Given the description of an element on the screen output the (x, y) to click on. 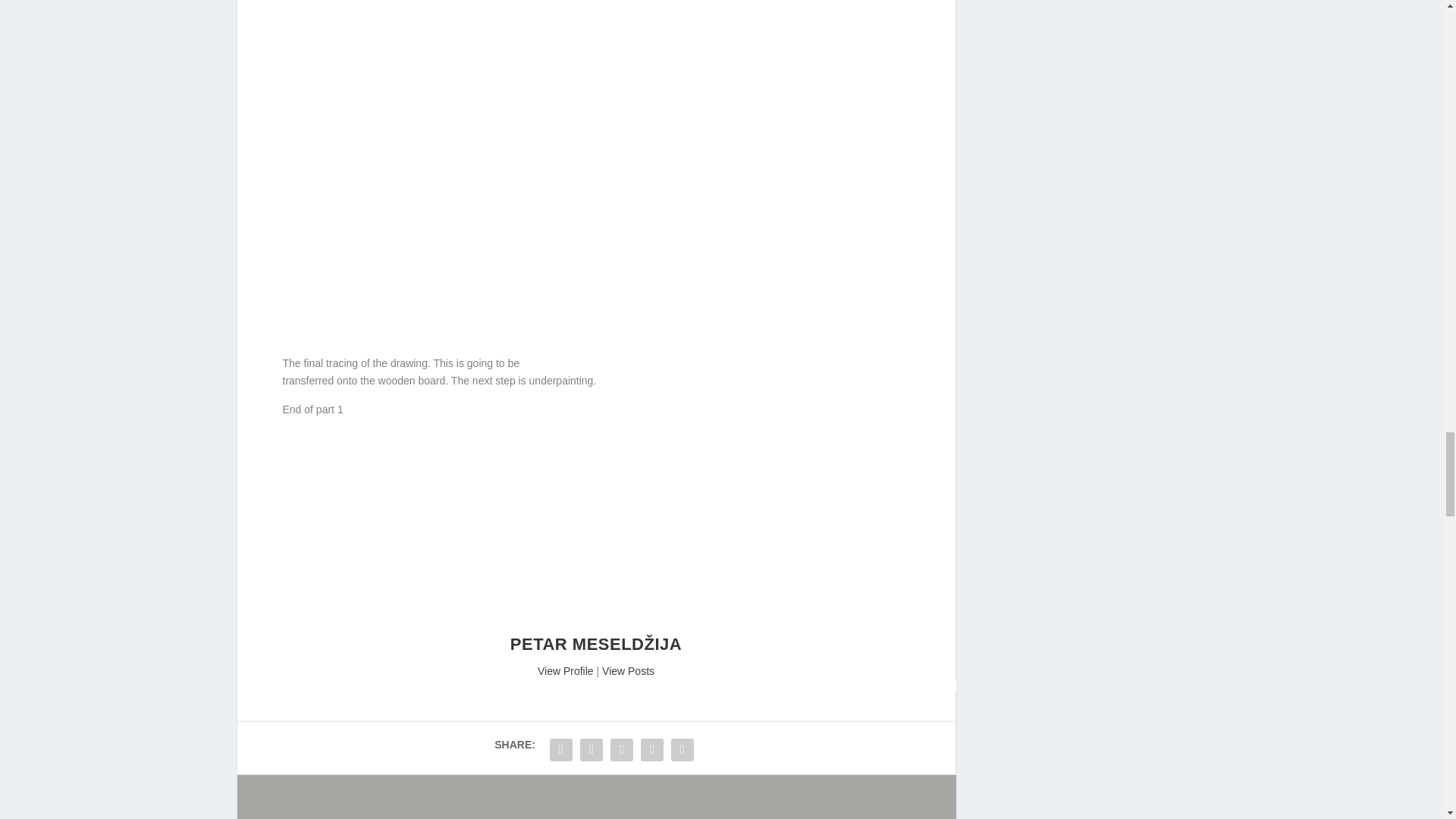
Share "Conan commission" via Tumblr (651, 749)
Share "Conan commission" via Twitter (591, 749)
About the author (596, 625)
About the author (565, 671)
Share "Conan commission" via Pinterest (681, 749)
Share "Conan commission" via Facebook (561, 749)
